Given the description of an element on the screen output the (x, y) to click on. 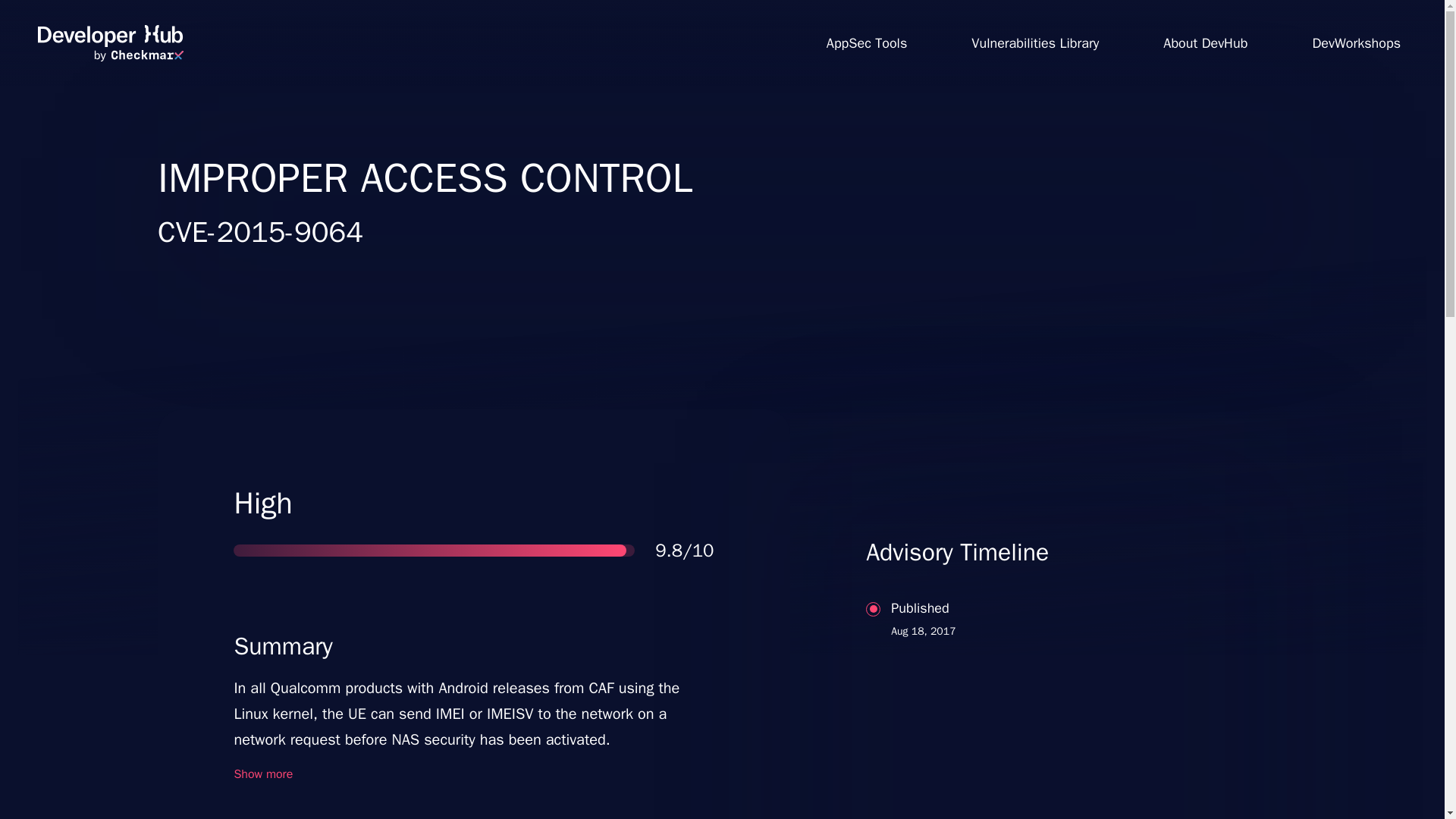
DevWorkshops (1356, 43)
AppSec Tools (866, 43)
Show more (262, 773)
Vulnerabilities Library (1035, 43)
Goto website home page (110, 43)
About DevHub (1205, 43)
